Given the description of an element on the screen output the (x, y) to click on. 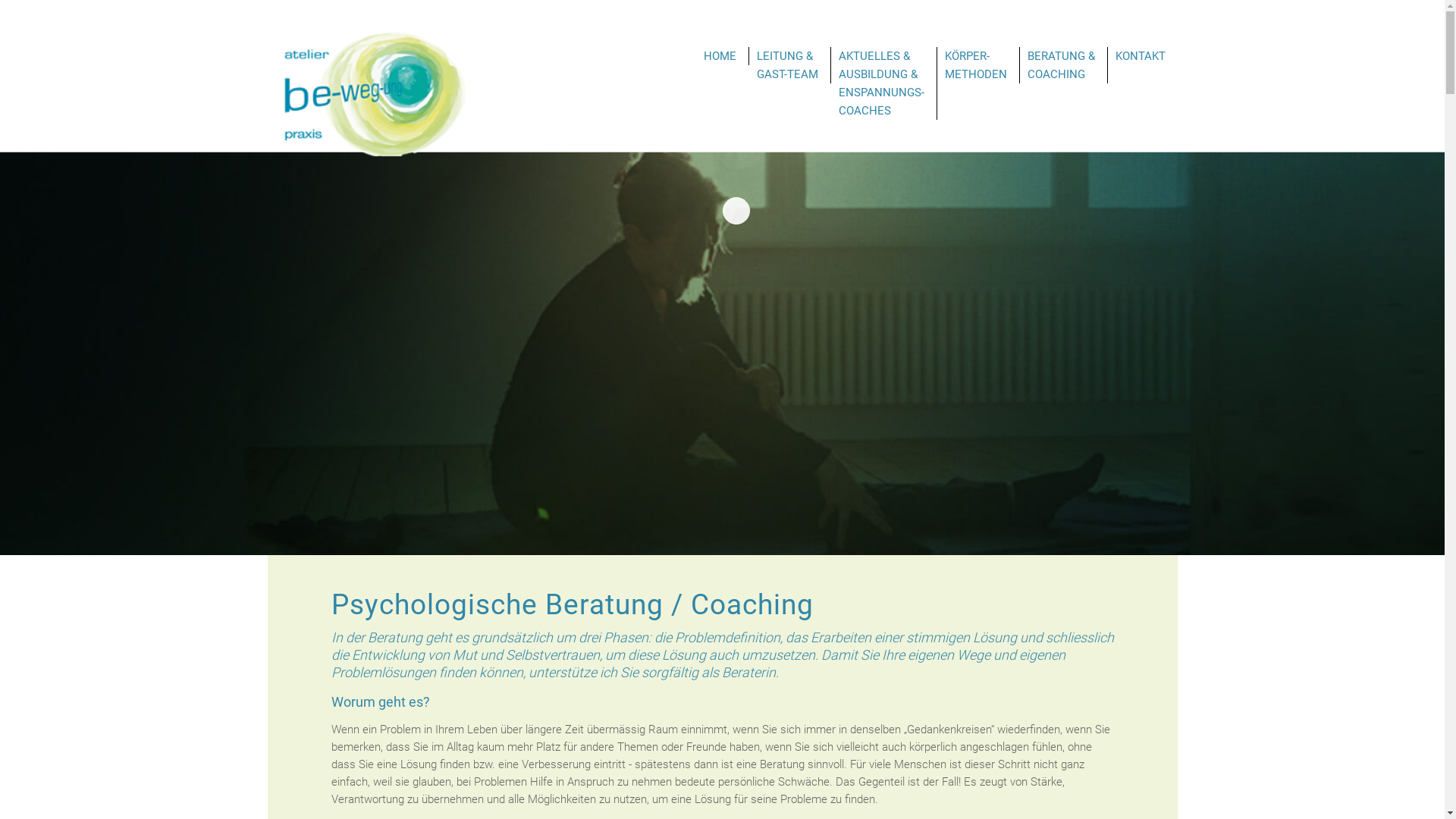
HOME Element type: text (719, 55)
AKTUELLES &
AUSBILDUNG &
ENSPANNUNGS-
COACHES Element type: text (881, 83)
KONTAKT Element type: text (1139, 55)
BERATUNG &
COACHING Element type: text (1060, 65)
LEITUNG &
GAST-TEAM Element type: text (787, 65)
